Given the description of an element on the screen output the (x, y) to click on. 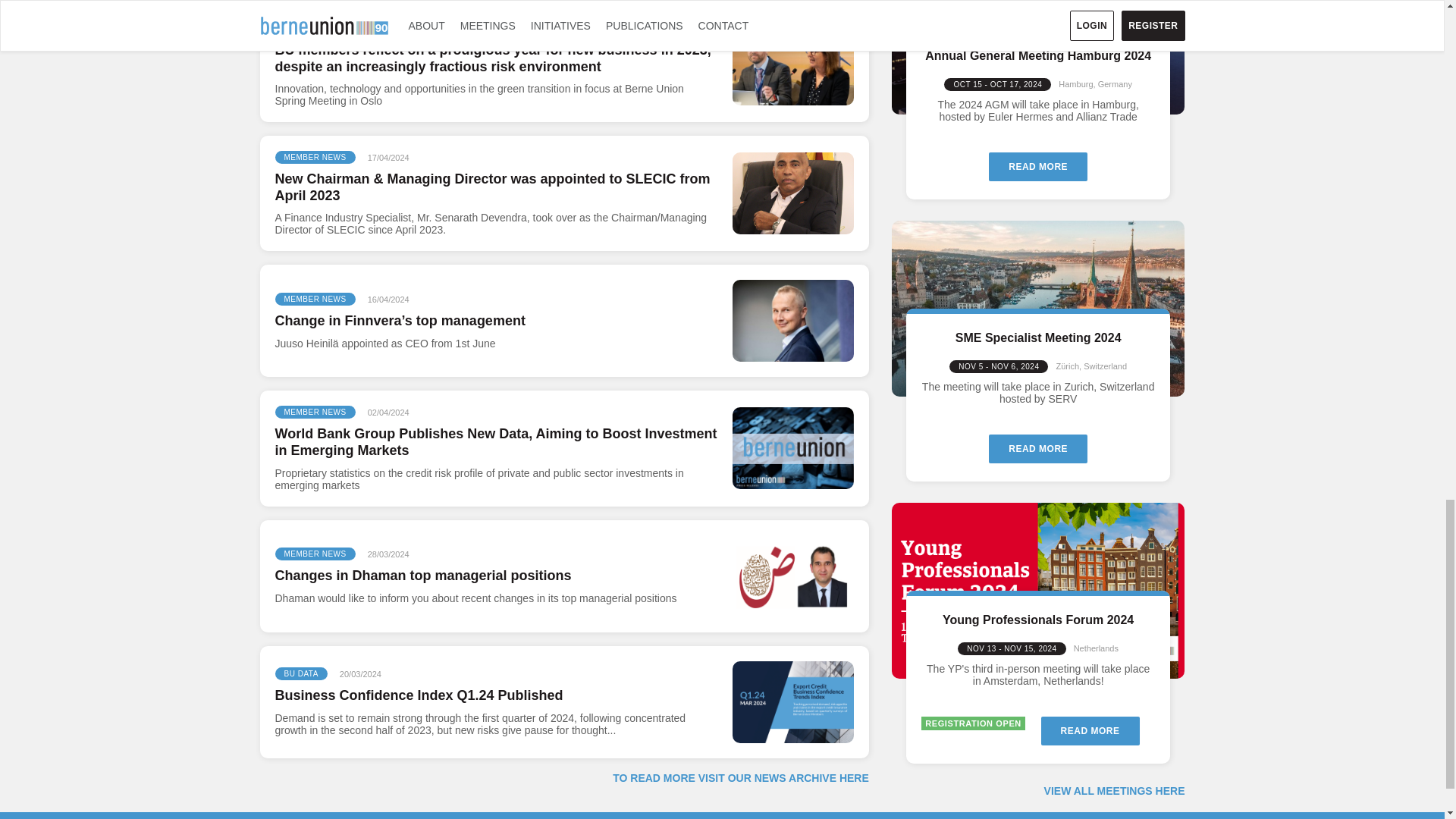
Business Confidence Index Q1.24 Published (792, 701)
Changes in Dhaman top managerial positions (792, 575)
